Given the description of an element on the screen output the (x, y) to click on. 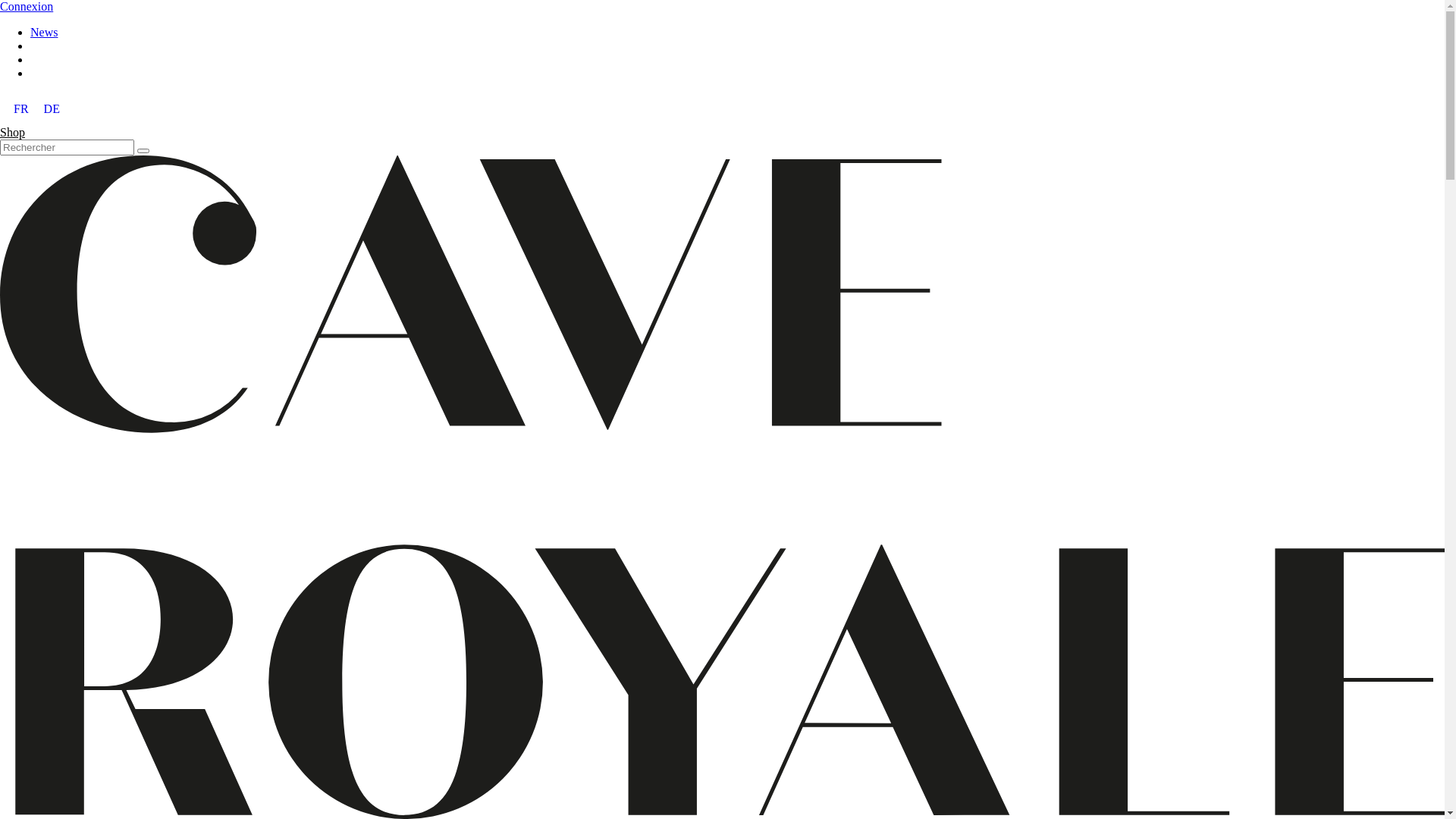
DE Element type: text (51, 108)
Shop Element type: text (12, 131)
News Element type: text (43, 31)
FR Element type: text (21, 108)
Connexion Element type: text (26, 6)
